Given the description of an element on the screen output the (x, y) to click on. 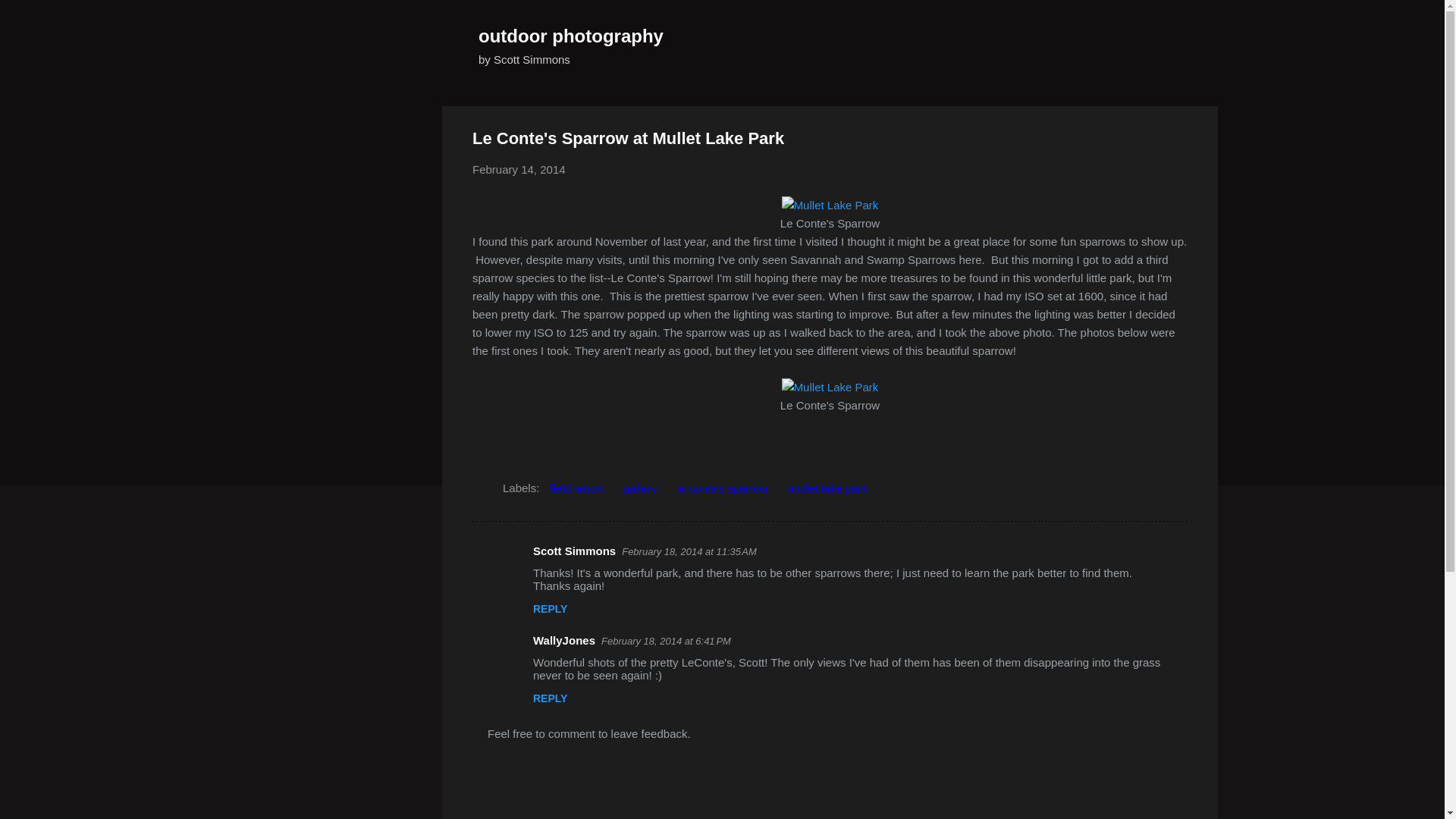
mullet lake park (827, 487)
REPLY (549, 698)
permanent link (518, 169)
Mullet Lake Park (830, 205)
Scott Simmons (573, 550)
February 14, 2014 (518, 169)
gallery (639, 487)
Search (29, 18)
